Given the description of an element on the screen output the (x, y) to click on. 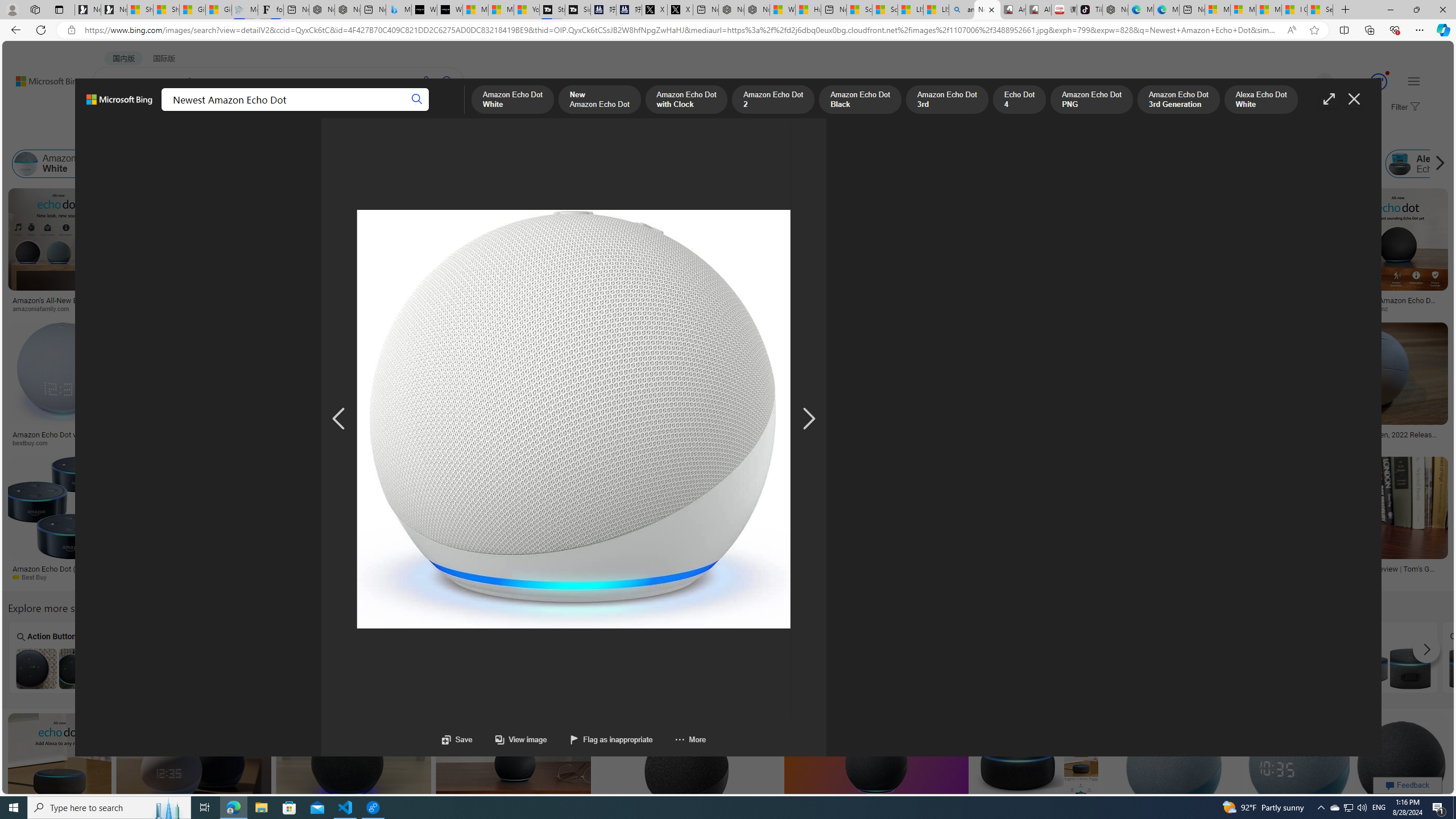
Scroll right (1436, 163)
Type (212, 135)
mobi-me.net (1073, 576)
techAU (1215, 308)
Amazon Echo Dot 3rd Generation Speaker (671, 668)
Amazon Echo Dot Owl and Nest Owl Nest (569, 656)
